Given the description of an element on the screen output the (x, y) to click on. 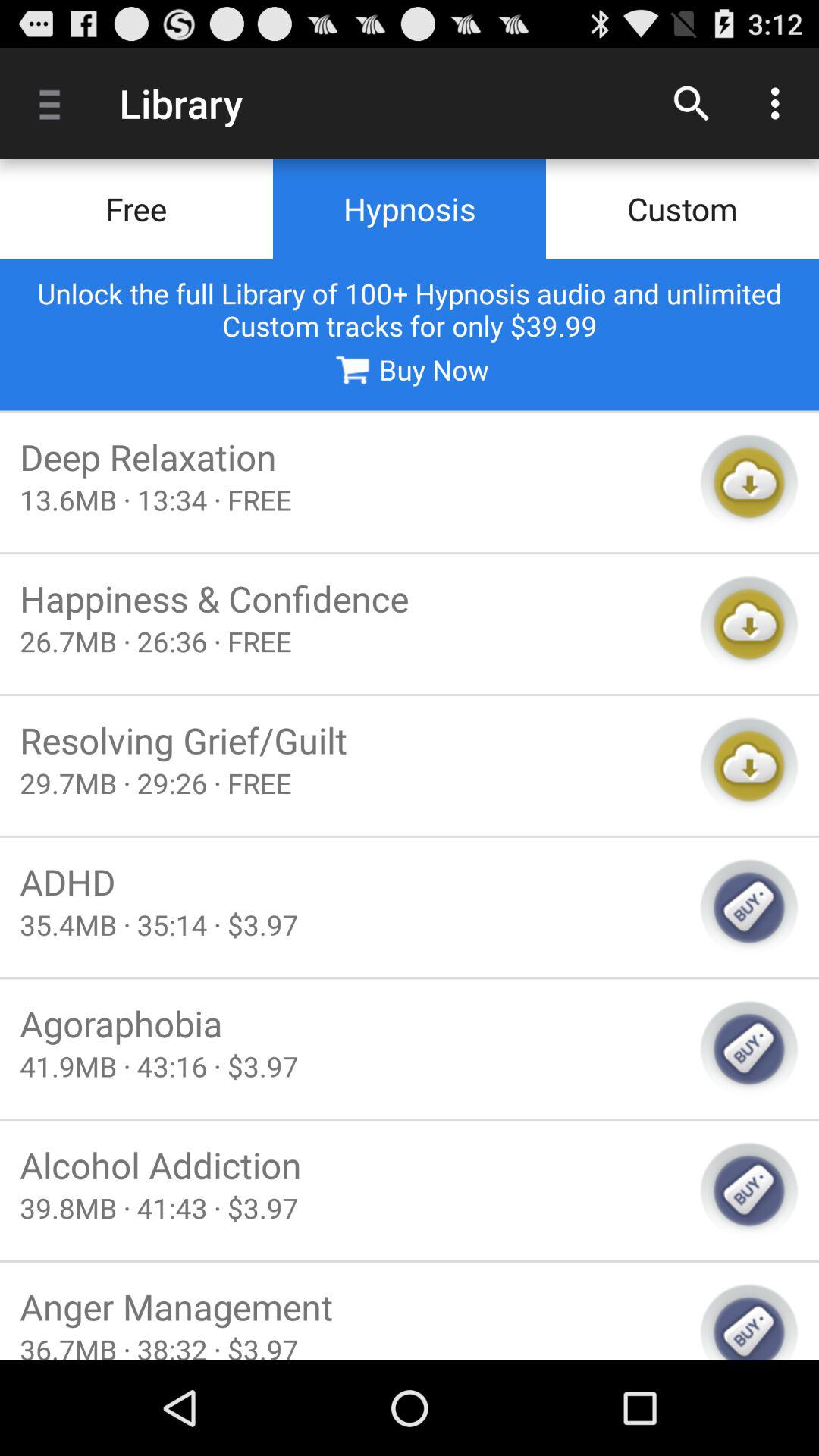
select the icon above 35 4mb 35 (349, 881)
